Given the description of an element on the screen output the (x, y) to click on. 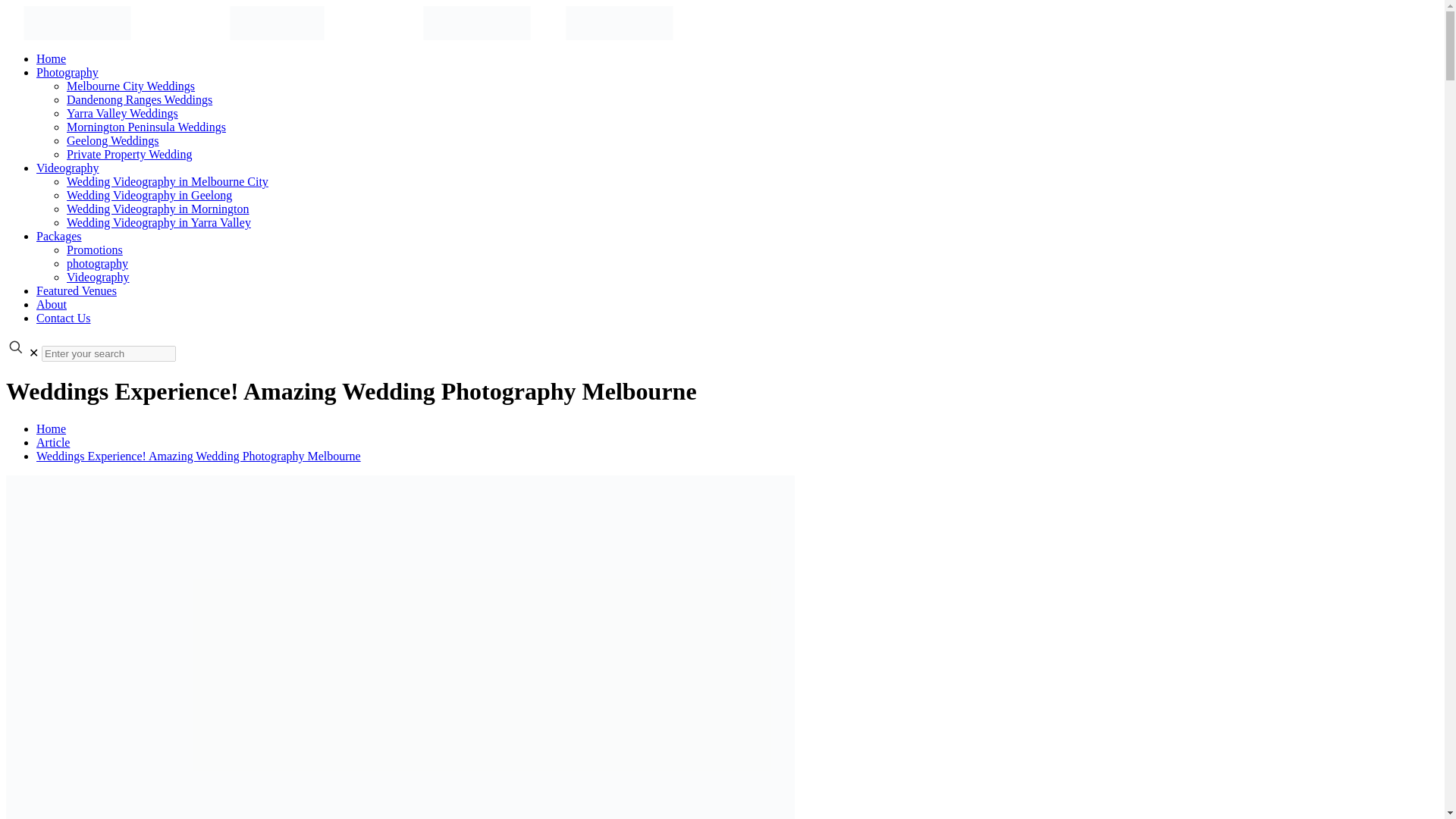
Home (50, 58)
Home (50, 428)
Wedding Videography in Geelong (148, 195)
Videography (67, 167)
Contact Us (63, 318)
Packages (58, 236)
Geelong Weddings (112, 140)
Wedding Videography in Melbourne City (166, 181)
Dandenong Ranges Weddings (139, 99)
Featured Venues (76, 290)
Packages (58, 236)
Wedding Videography in Yarra Valley (158, 222)
Contact Us (63, 318)
Videography (67, 167)
Article (52, 441)
